Given the description of an element on the screen output the (x, y) to click on. 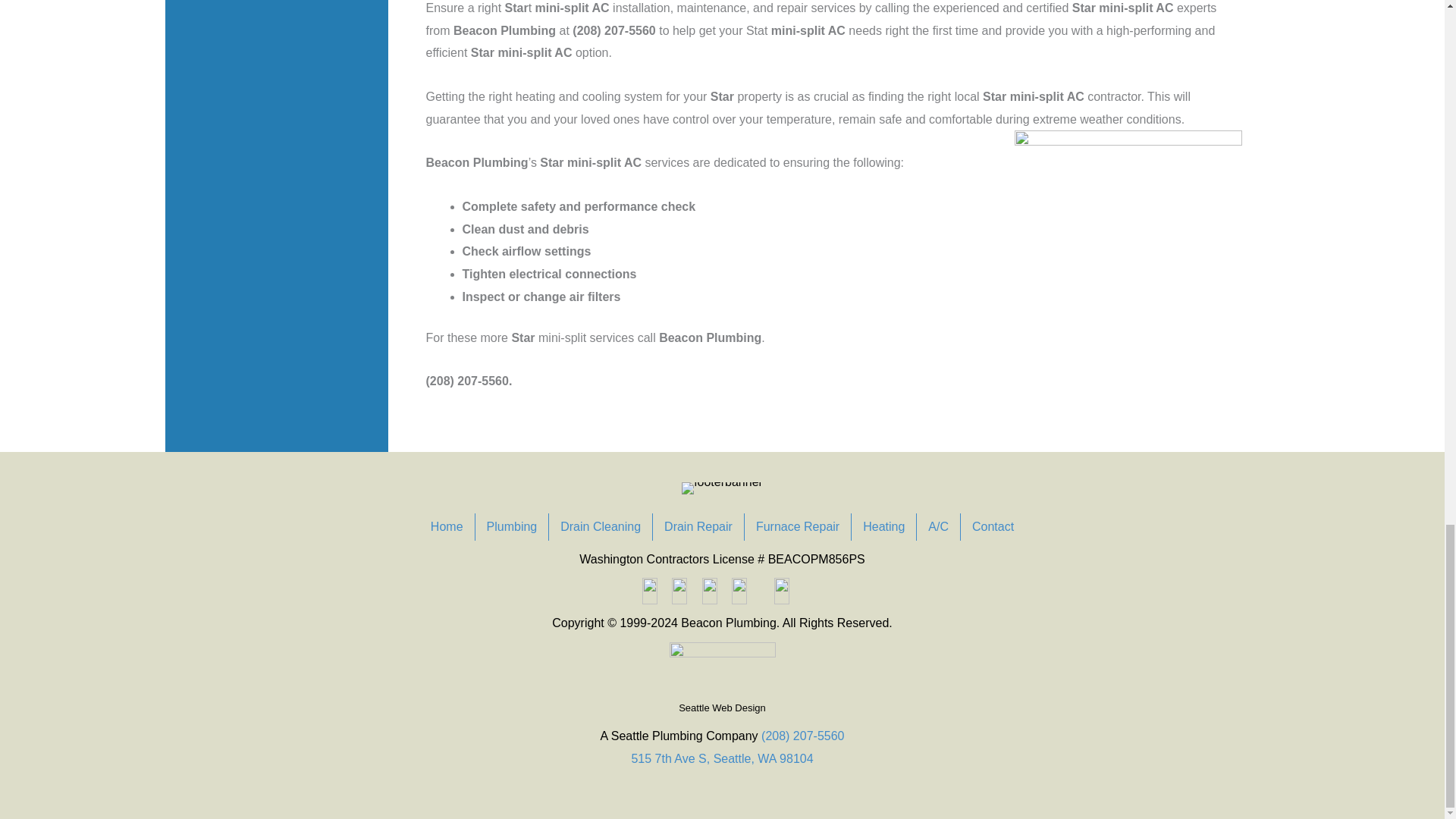
footerbanner (721, 488)
